Given the description of an element on the screen output the (x, y) to click on. 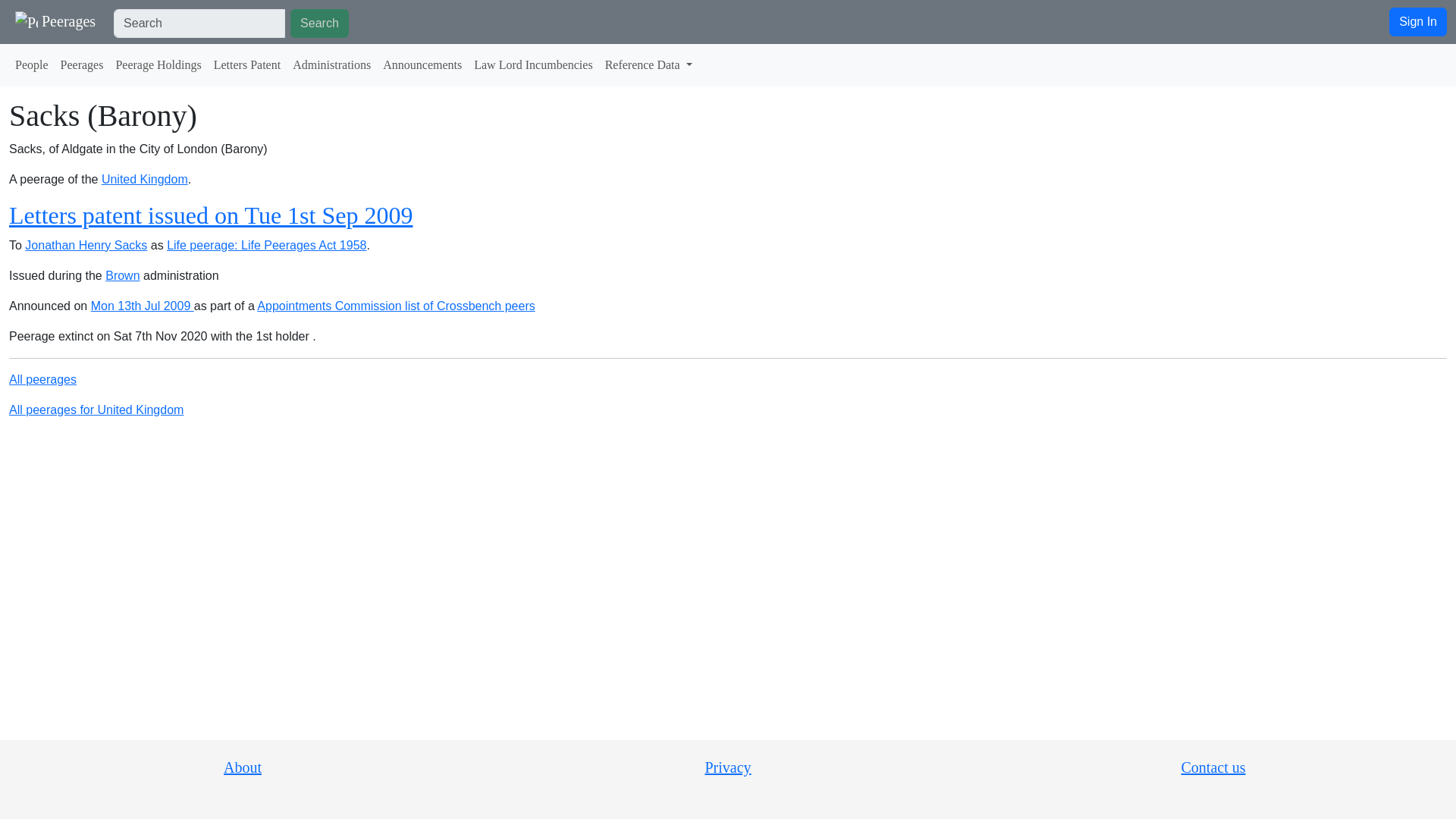
Contact us (1213, 767)
Peerages (54, 21)
All peerages (42, 379)
Life peerage: Life Peerages Act 1958 (266, 245)
Brown (121, 275)
Peerage Holdings (157, 64)
Privacy (727, 767)
Peerages (82, 64)
Letters Patent (247, 64)
Letters patent issued on Tue 1st Sep 2009 (210, 215)
Law Lord Incumbencies (532, 64)
Administrations (331, 64)
Mon 13th Jul 2009 (141, 305)
Sign In (1418, 21)
All peerages for United Kingdom (95, 409)
